Given the description of an element on the screen output the (x, y) to click on. 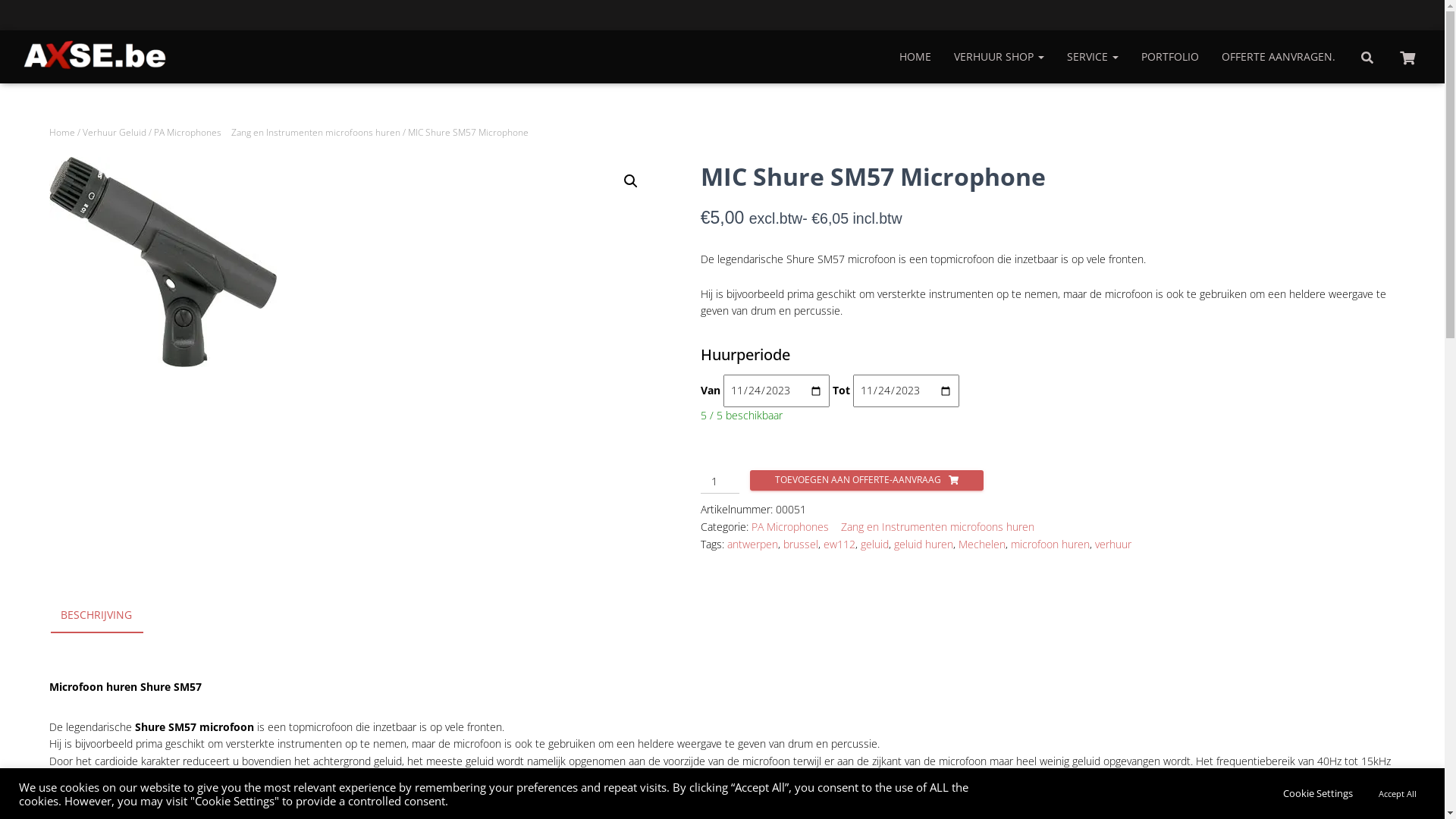
BESCHRIJVING Element type: text (95, 615)
View cart Element type: hover (1406, 55)
antwerpen Element type: text (752, 543)
VERHUUR SHOP Element type: text (997, 56)
TOEVOEGEN AAN OFFERTE-AANVRAAG Element type: text (866, 480)
ew112 Element type: text (839, 543)
SERVICE Element type: text (1092, 56)
Verhuur Geluid Element type: text (113, 131)
microfoon huren Element type: text (1049, 543)
PORTFOLIO Element type: text (1169, 56)
Zoeken Element type: text (3, 16)
OFFERTE AANVRAGEN. Element type: text (1278, 56)
Mechelen Element type: text (981, 543)
HOME Element type: text (914, 56)
geluid Element type: text (874, 543)
shure-sm57-Axsejpg.jpg Element type: hover (162, 261)
Home Element type: text (61, 131)
verhuur Element type: text (1113, 543)
geluid huren Element type: text (923, 543)
Accept All Element type: text (1397, 793)
brussel Element type: text (800, 543)
Cookie Settings Element type: text (1317, 793)
Axse.be Element type: hover (95, 56)
